Given the description of an element on the screen output the (x, y) to click on. 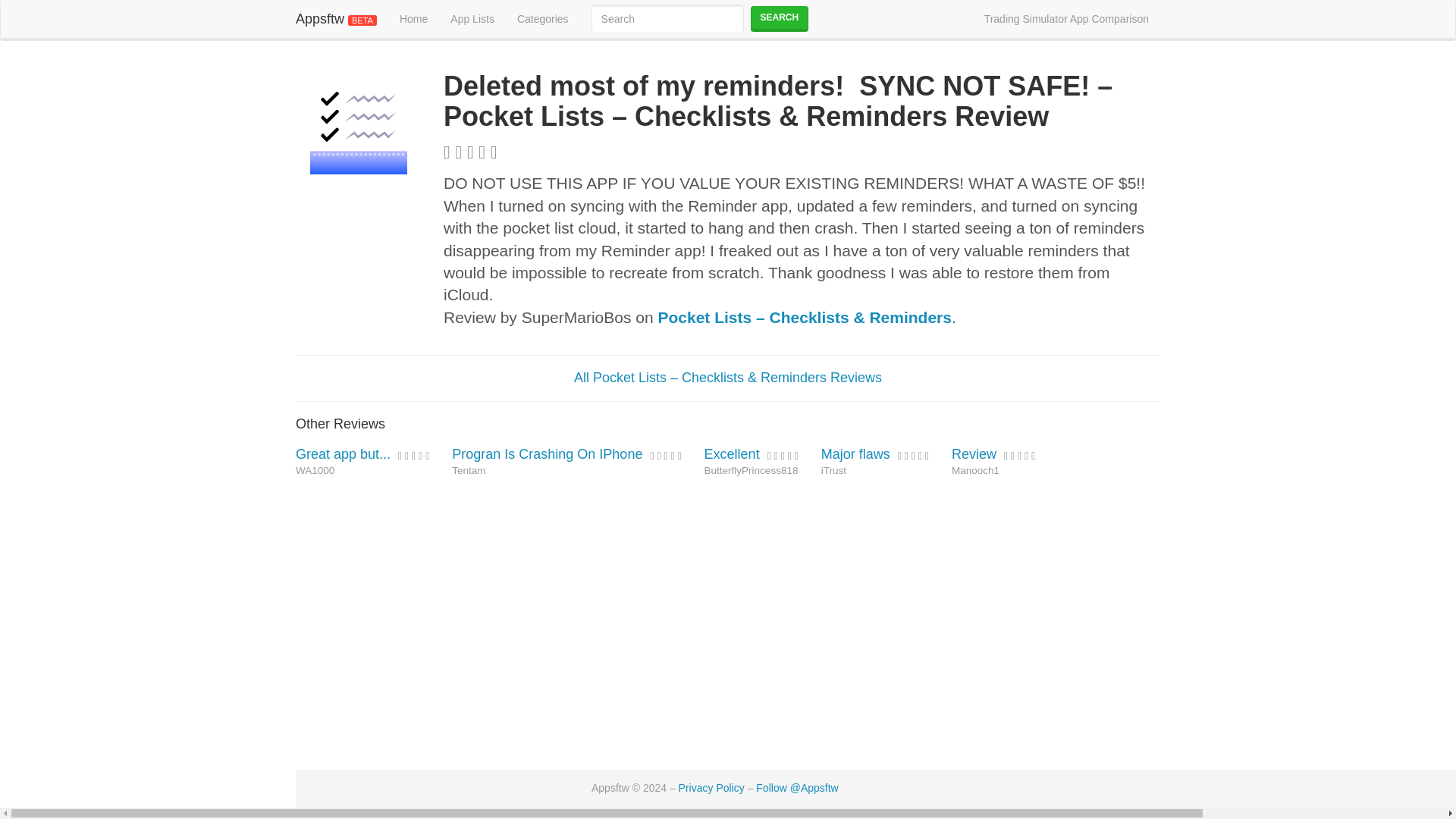
Categories (542, 18)
Excellent (733, 453)
Review (976, 453)
Great app but... (344, 453)
Progran Is Crashing On IPhone (548, 453)
App Lists (472, 18)
Home (413, 18)
Major flaws (857, 453)
Appsftw BETA (335, 18)
SEARCH (780, 18)
Trading Simulator App Comparison (1066, 18)
